Given the description of an element on the screen output the (x, y) to click on. 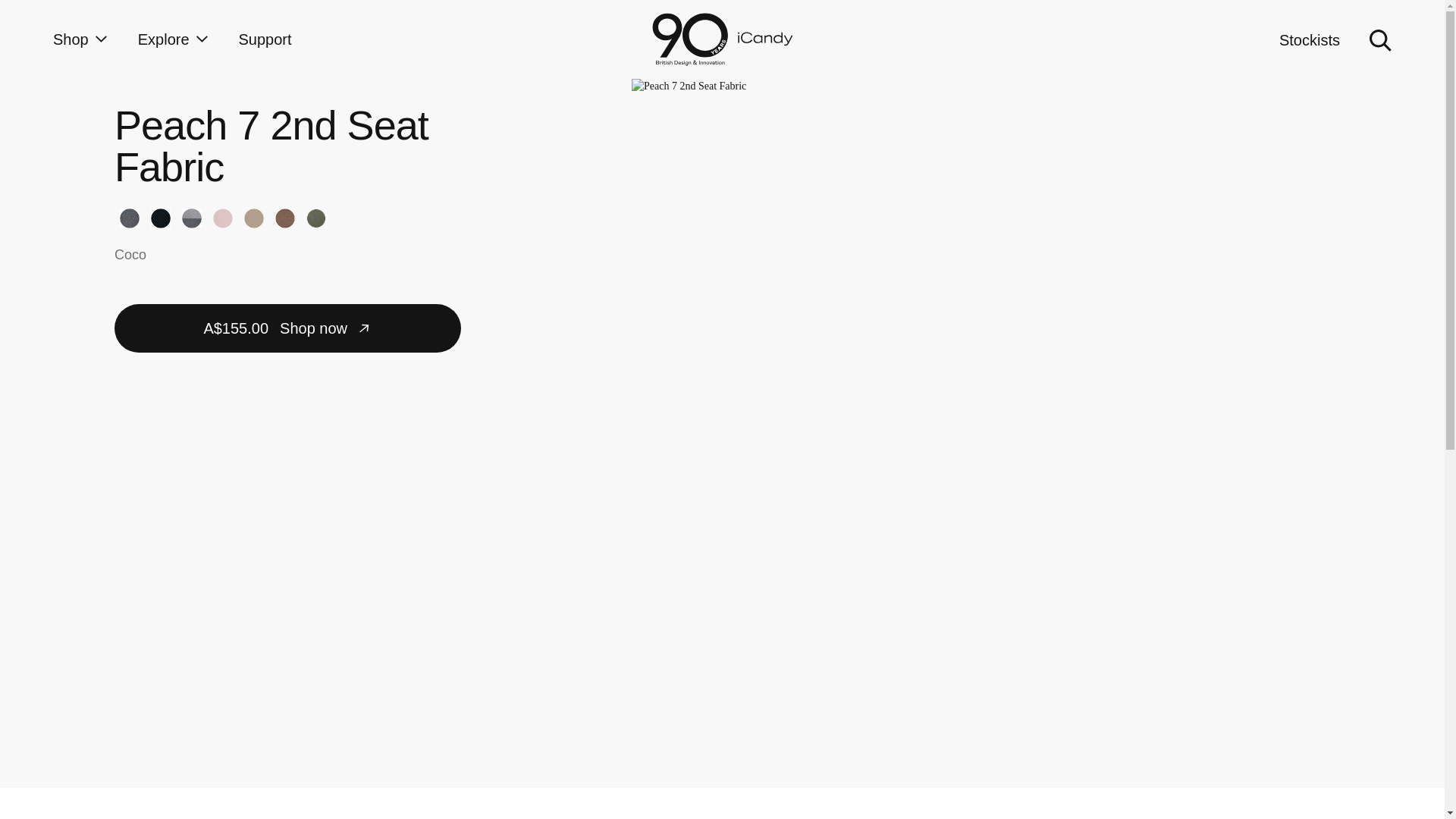
Shop now (288, 327)
Support (264, 38)
Stockists (1309, 40)
Search (1380, 39)
Stockists (1309, 40)
